Given the description of an element on the screen output the (x, y) to click on. 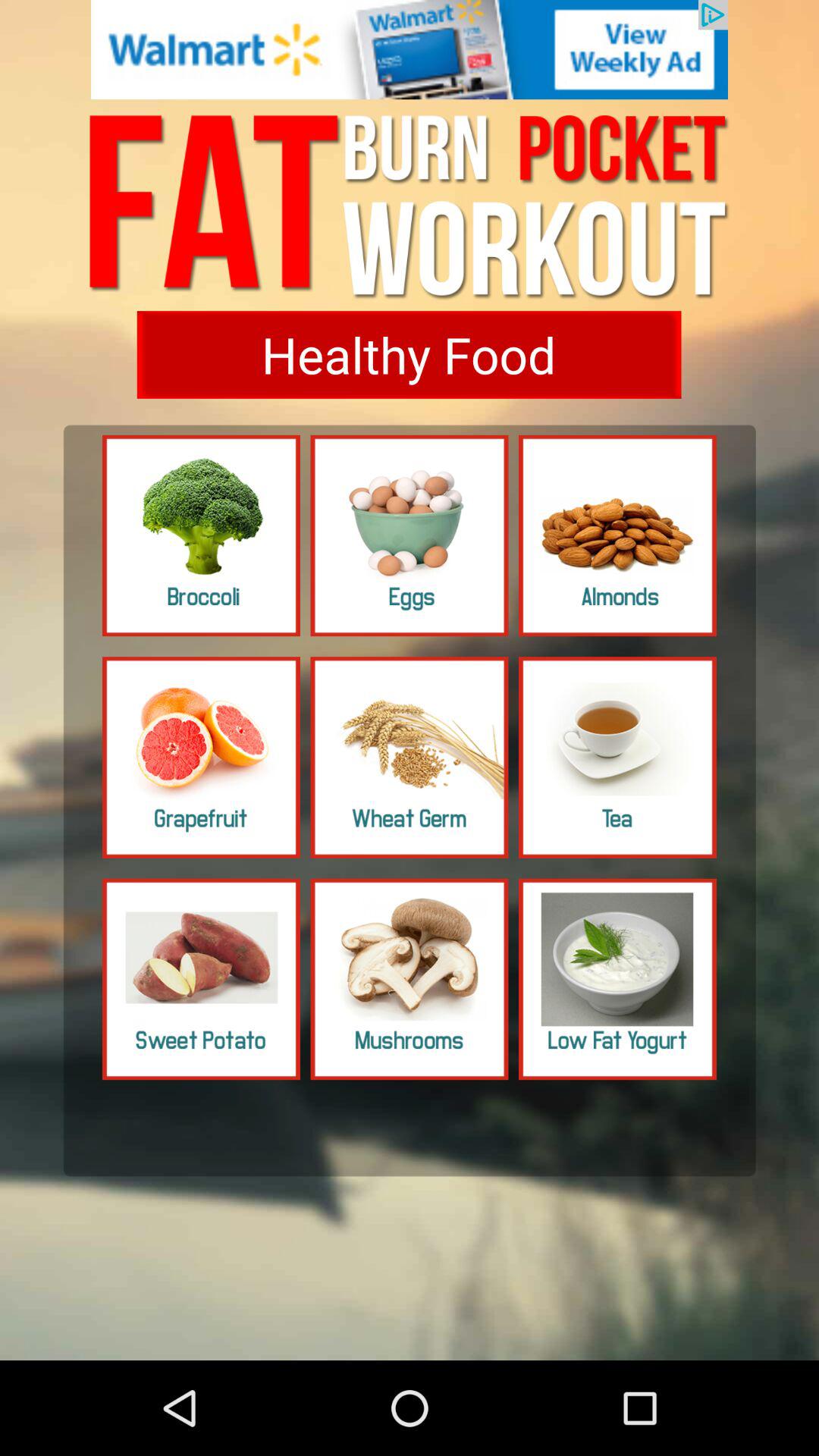
details about wheat germ (409, 757)
